Given the description of an element on the screen output the (x, y) to click on. 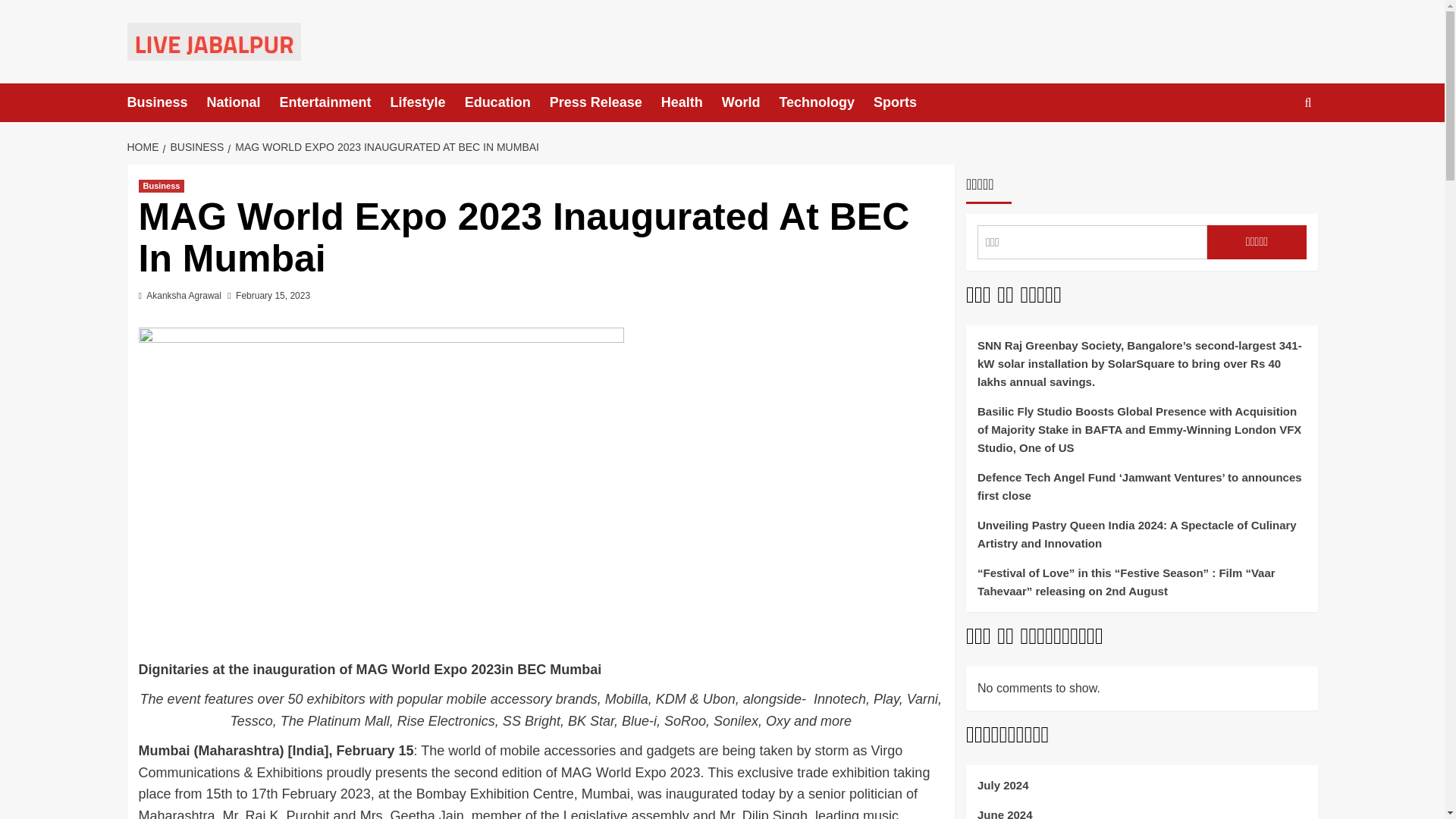
Health (691, 102)
Akanksha Agrawal (184, 295)
Education (507, 102)
World (750, 102)
BUSINESS (194, 146)
Press Release (605, 102)
National (242, 102)
February 15, 2023 (272, 295)
Search (1272, 148)
MAG WORLD EXPO 2023 INAUGURATED AT BEC IN MUMBAI (385, 146)
Lifestyle (427, 102)
HOME (145, 146)
Sports (904, 102)
Business (161, 185)
Business (167, 102)
